Given the description of an element on the screen output the (x, y) to click on. 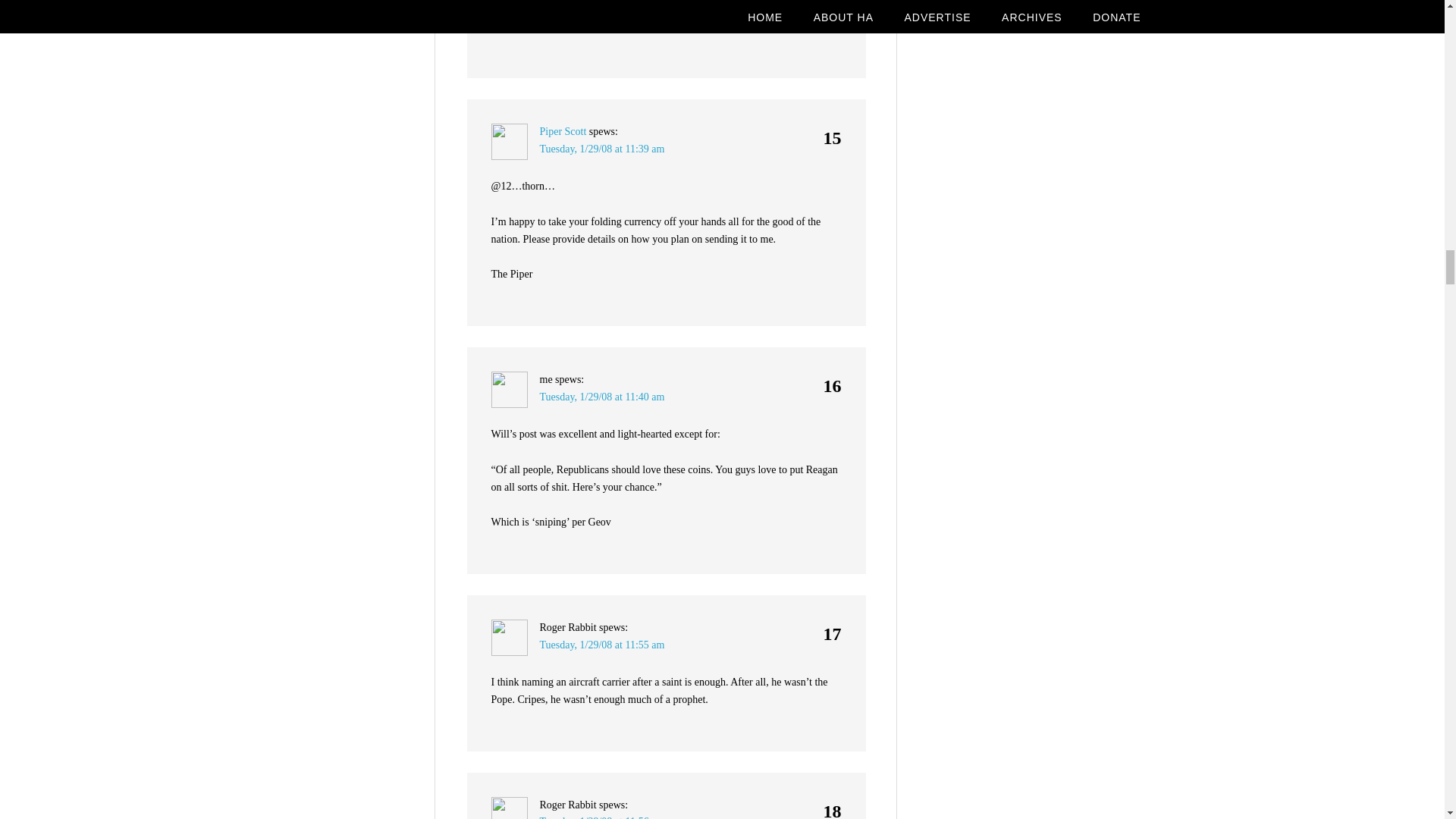
Piper Scott (563, 131)
